Given the description of an element on the screen output the (x, y) to click on. 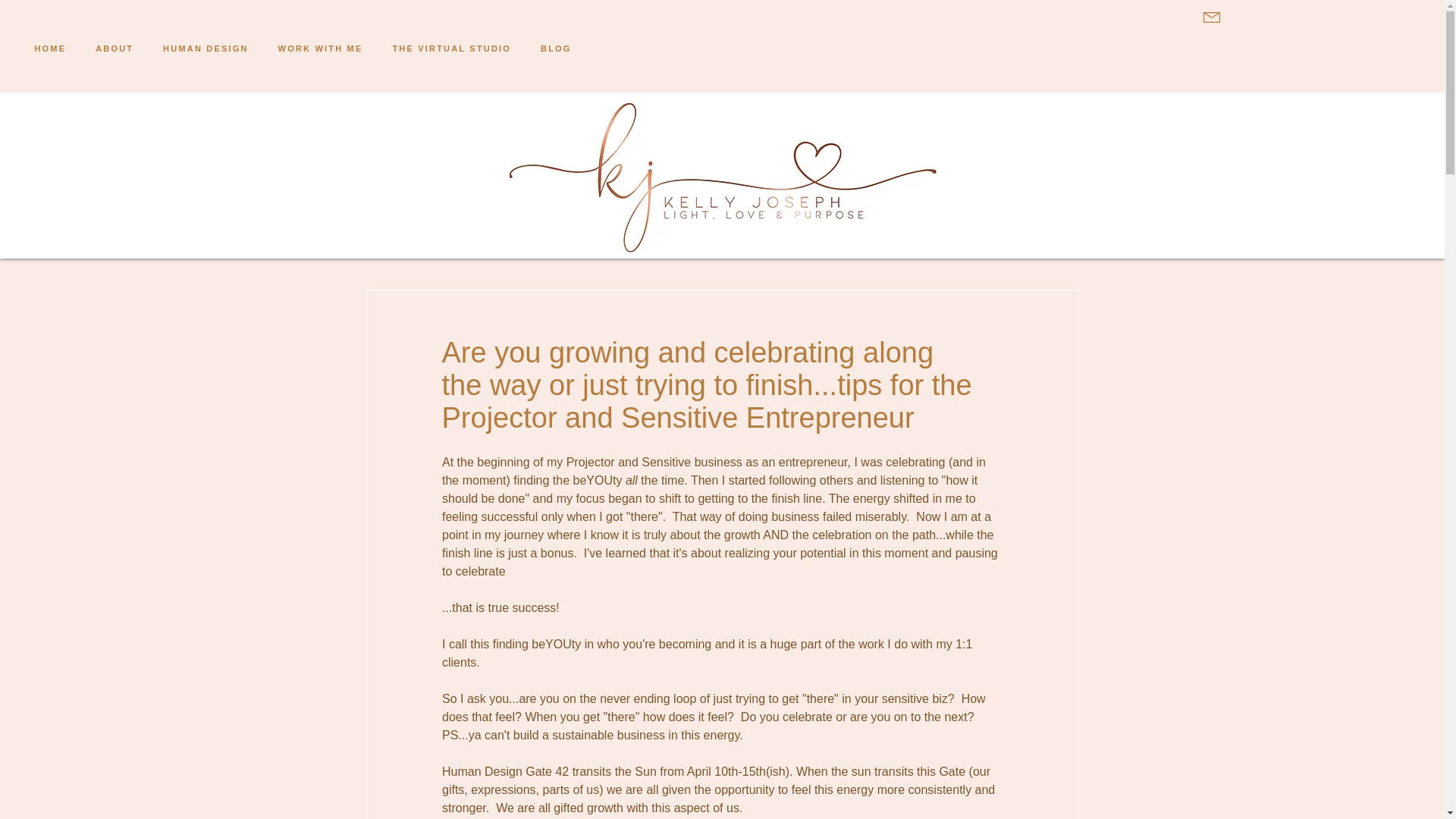
WORK WITH ME (320, 48)
HOME (50, 48)
HUMAN DESIGN (205, 48)
ABOUT (114, 48)
THE VIRTUAL STUDIO (451, 48)
JPG alt.jpg (303, 48)
BLOG (722, 177)
